Given the description of an element on the screen output the (x, y) to click on. 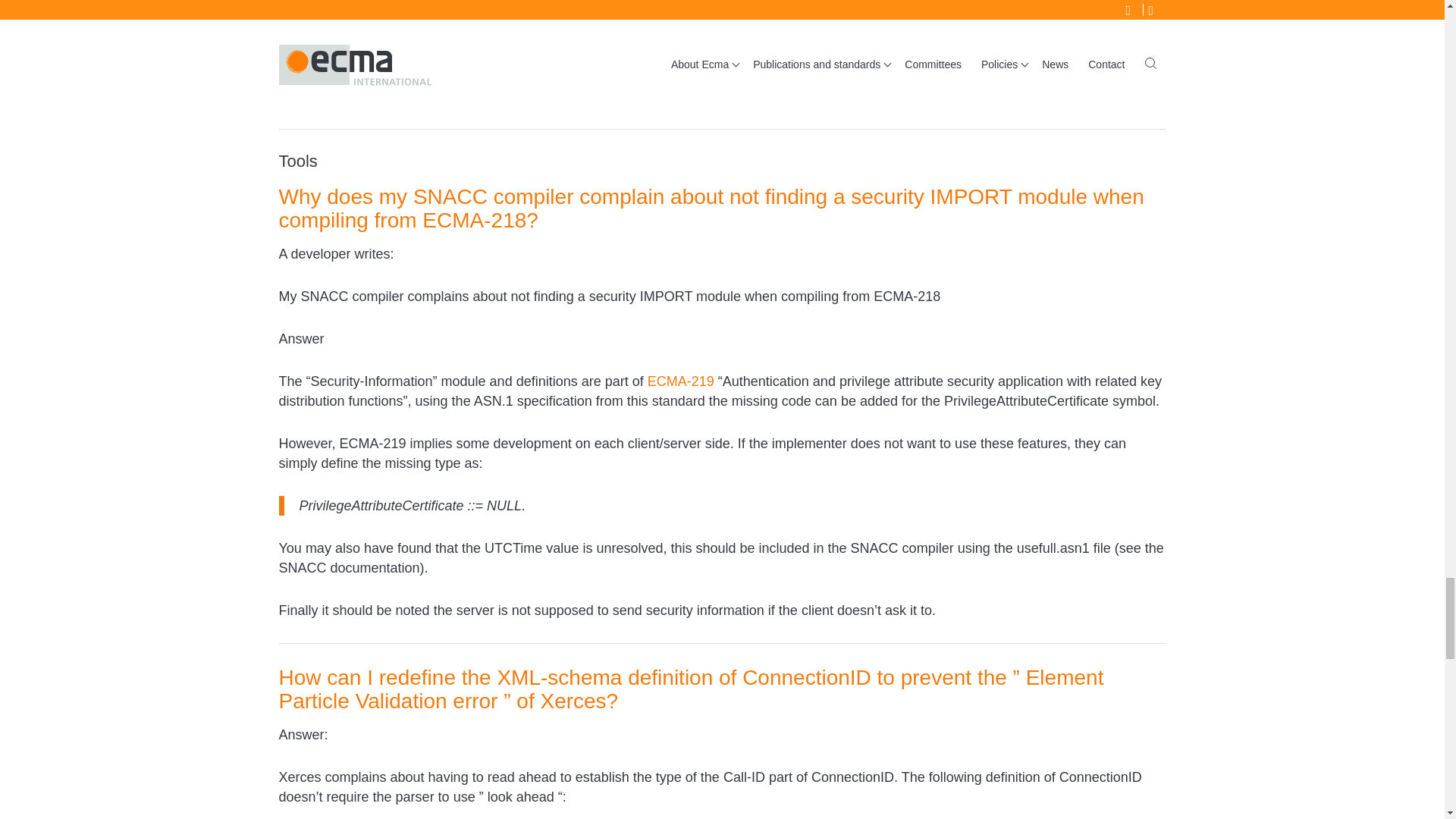
ECMA-219 (680, 381)
